Given the description of an element on the screen output the (x, y) to click on. 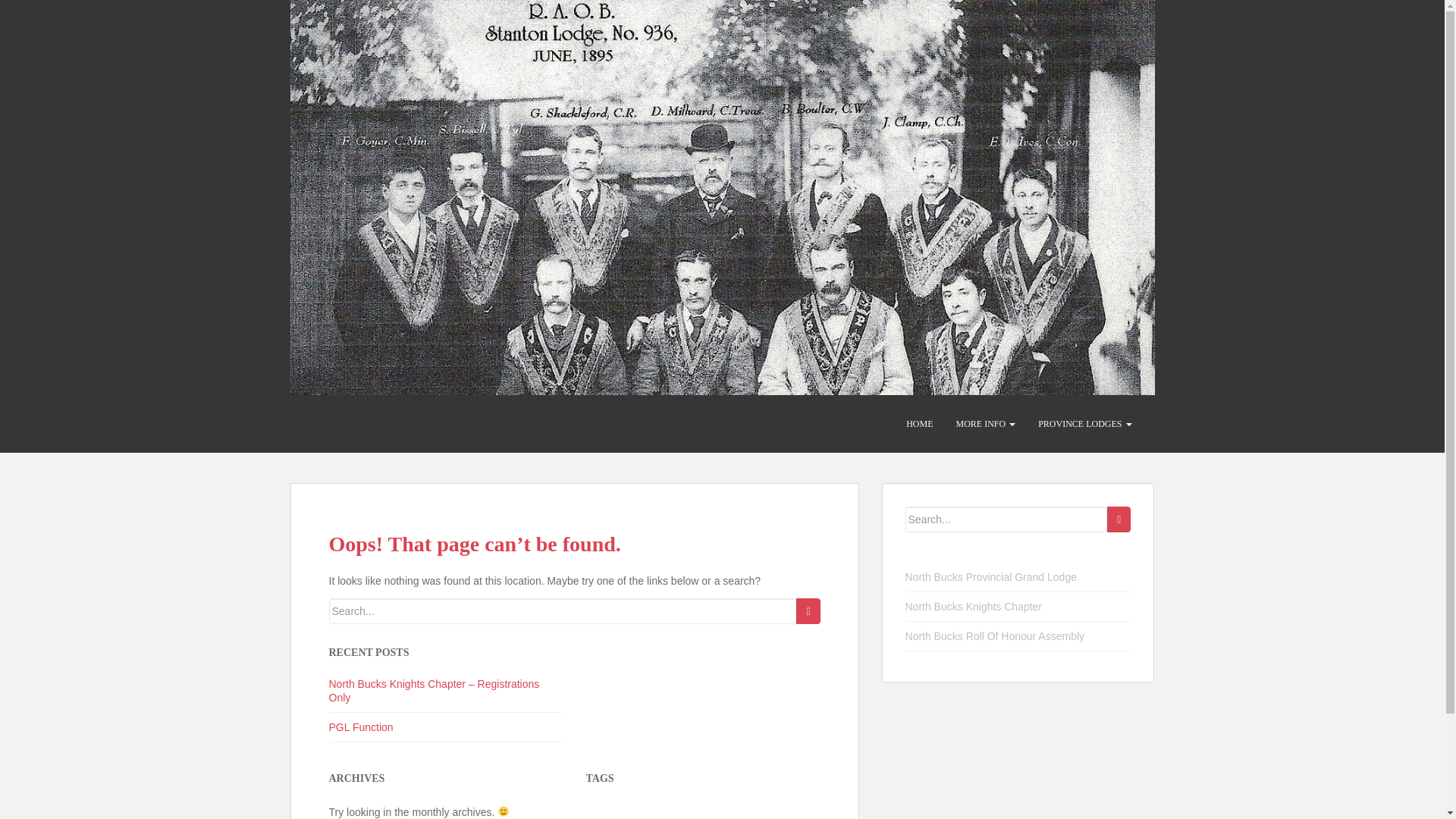
North Bucks Provincial Grand Lodge (991, 576)
More Info (984, 423)
PGL Function (361, 727)
MORE INFO (984, 423)
North Bucks Roll Of Honour Assembly (994, 635)
Go (1118, 519)
Province Lodges (1084, 423)
Go (807, 611)
North Bucks Knights Chapter (973, 606)
PROVINCE LODGES (1084, 423)
